Given the description of an element on the screen output the (x, y) to click on. 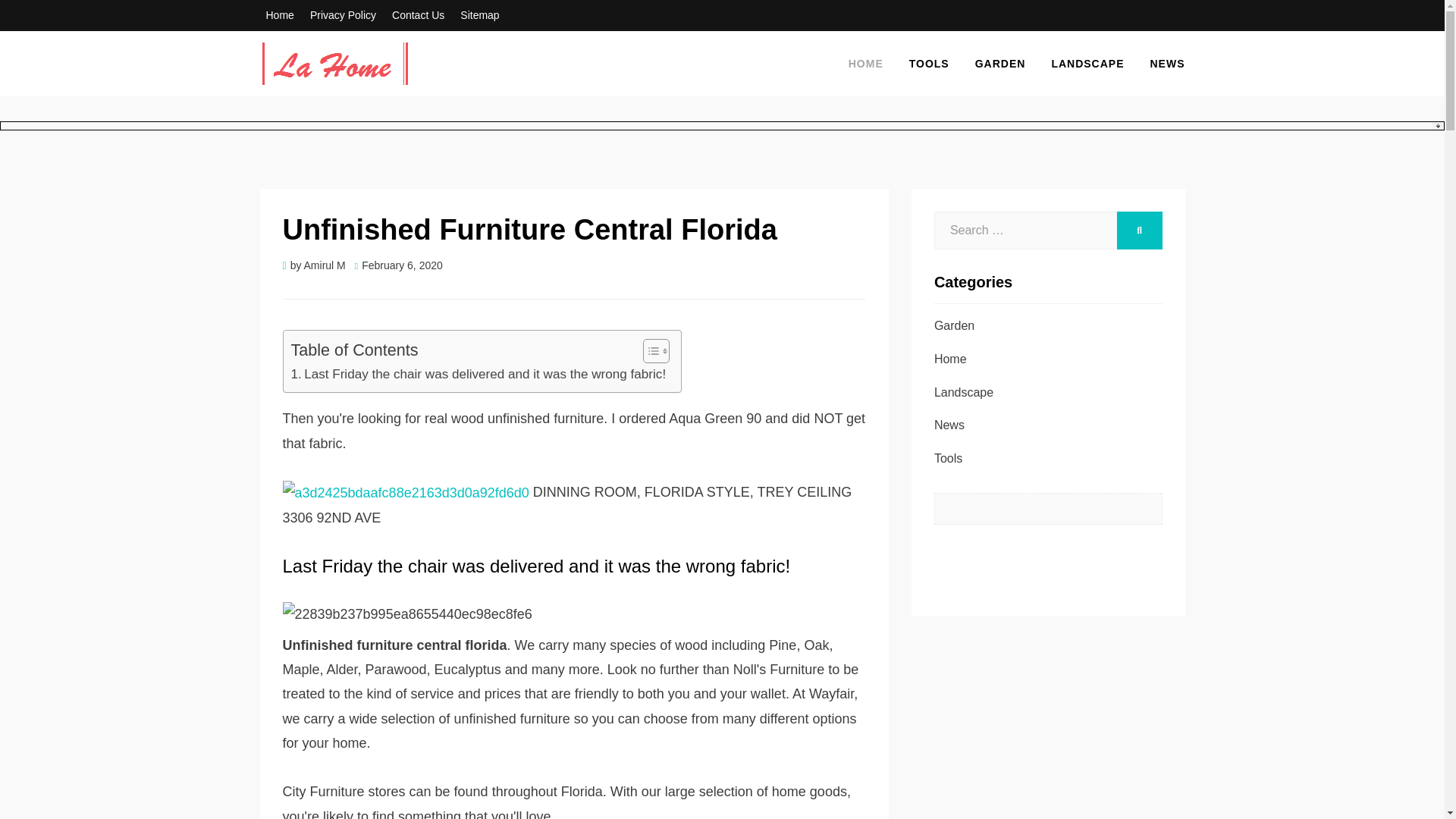
GARDEN (1000, 63)
HOME (865, 63)
Unfinished Furniture Central Florida 2 (573, 613)
Sitemap (479, 15)
LANDSCAPE (1087, 63)
February 6, 2020 (398, 265)
TOOLS (929, 63)
Privacy Policy (342, 15)
Contact Us (417, 15)
